Given the description of an element on the screen output the (x, y) to click on. 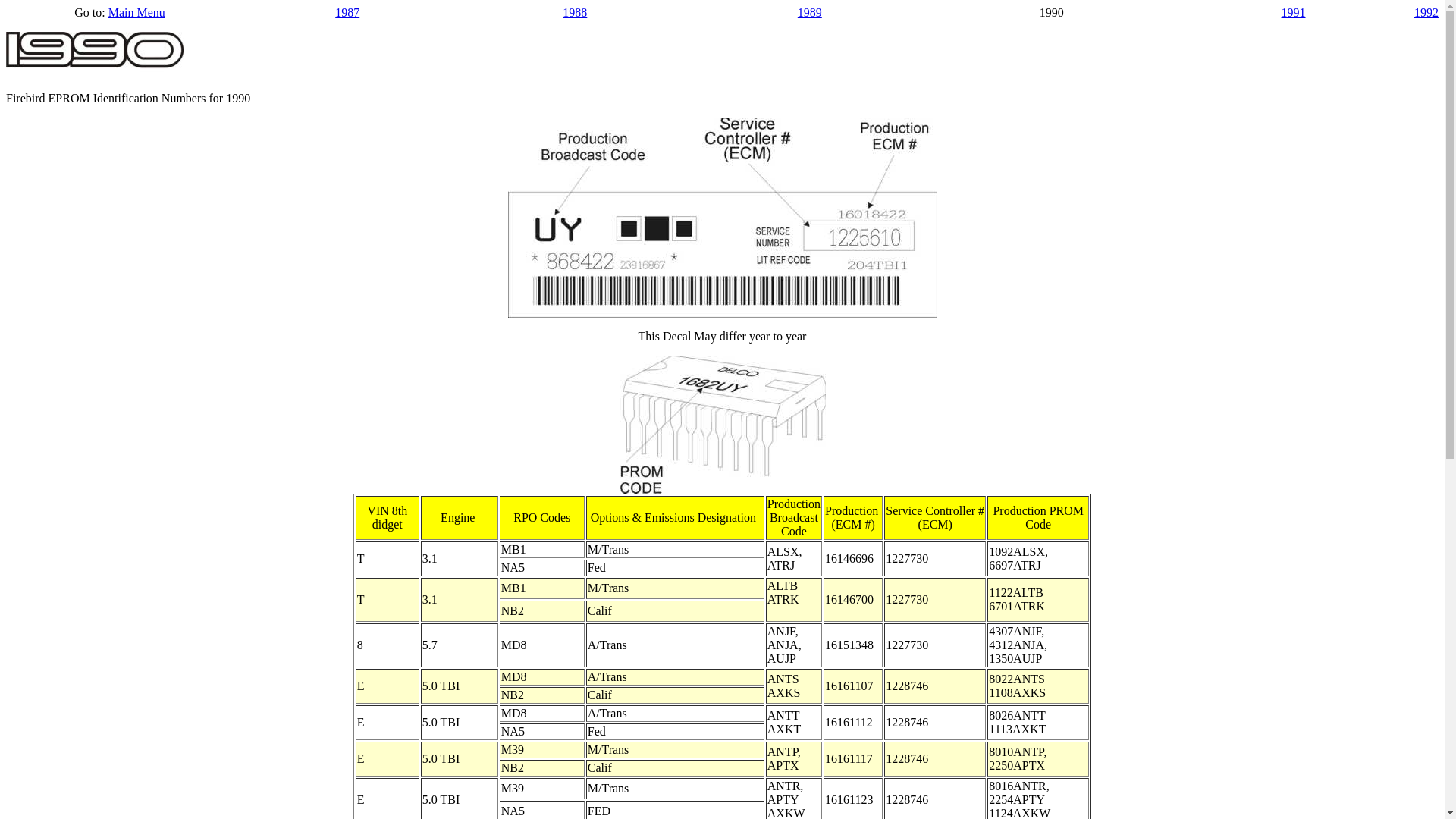
1991 Element type: text (1293, 12)
1987 Element type: text (347, 12)
1989 Element type: text (809, 12)
1988 Element type: text (574, 12)
Main Menu Element type: text (136, 12)
1992 Element type: text (1426, 12)
